Given the description of an element on the screen output the (x, y) to click on. 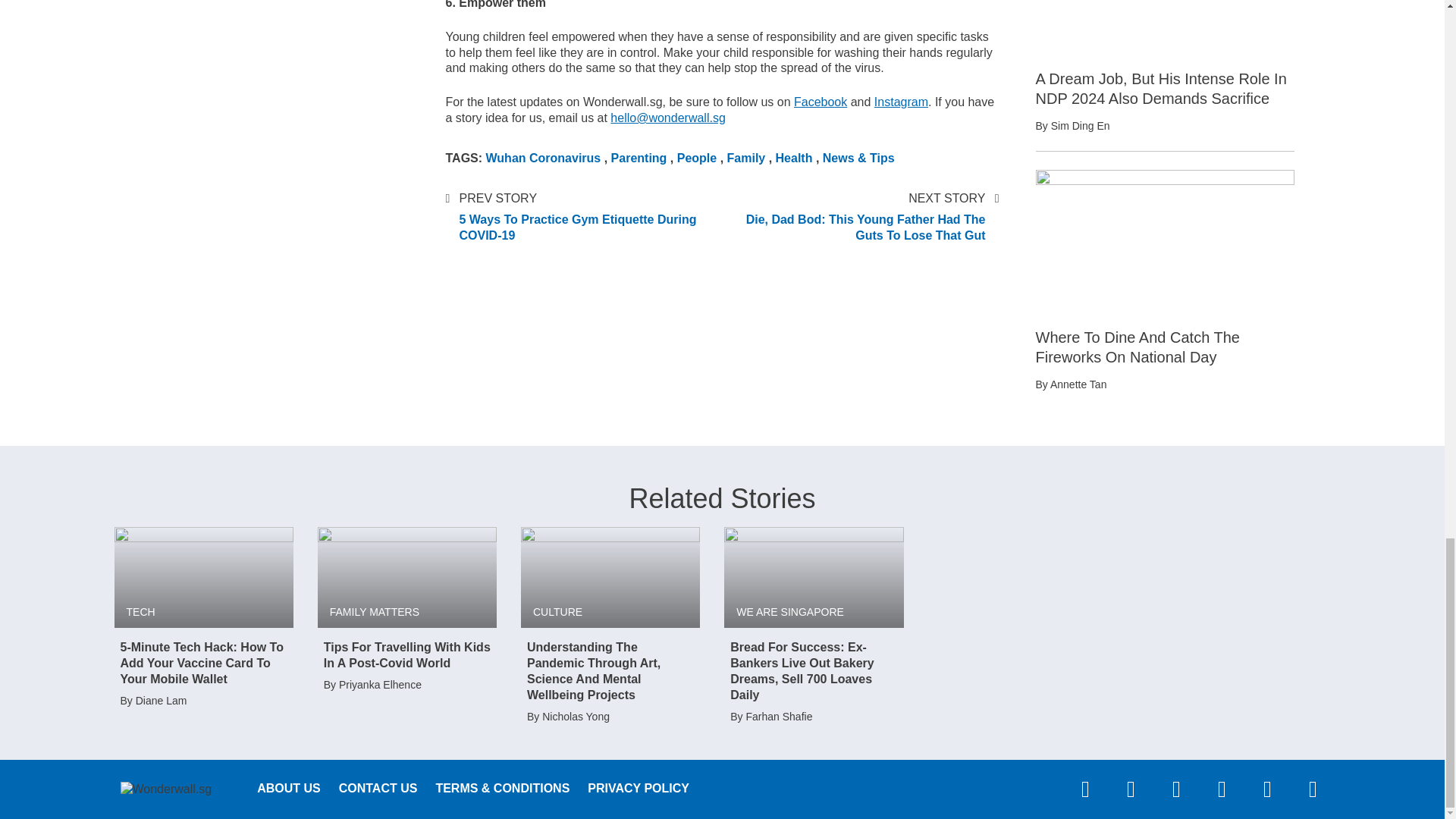
IG (901, 101)
FB (820, 101)
mail (667, 117)
